Given the description of an element on the screen output the (x, y) to click on. 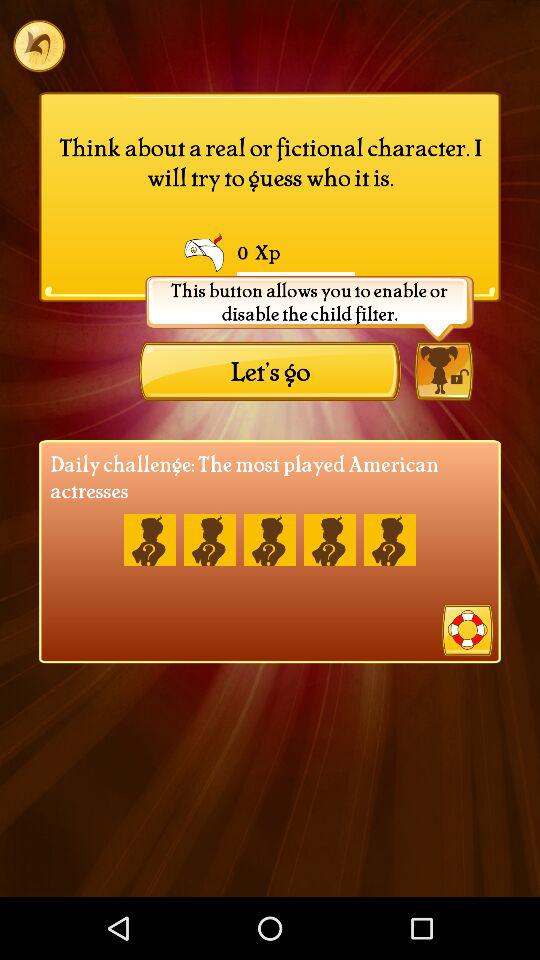
go to back icon (38, 46)
select the 3rd image in the last box (269, 539)
select the second image from the daily challenge (209, 539)
